Given the description of an element on the screen output the (x, y) to click on. 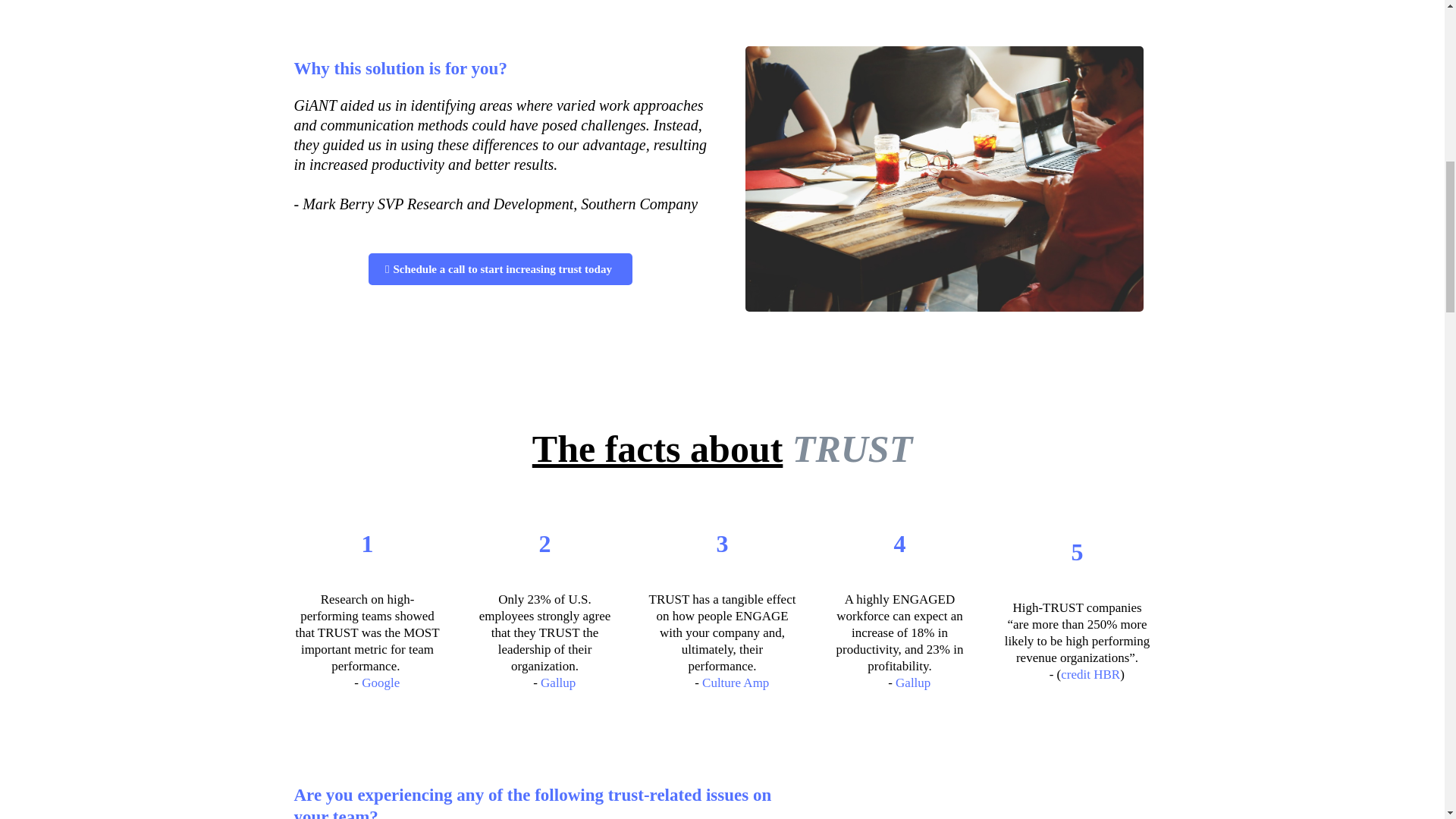
Google (379, 682)
Gallup (912, 682)
Gallup (557, 682)
Culture Amp (734, 682)
Schedule a call to start increasing trust today (499, 269)
credit HBR (1090, 674)
